Given the description of an element on the screen output the (x, y) to click on. 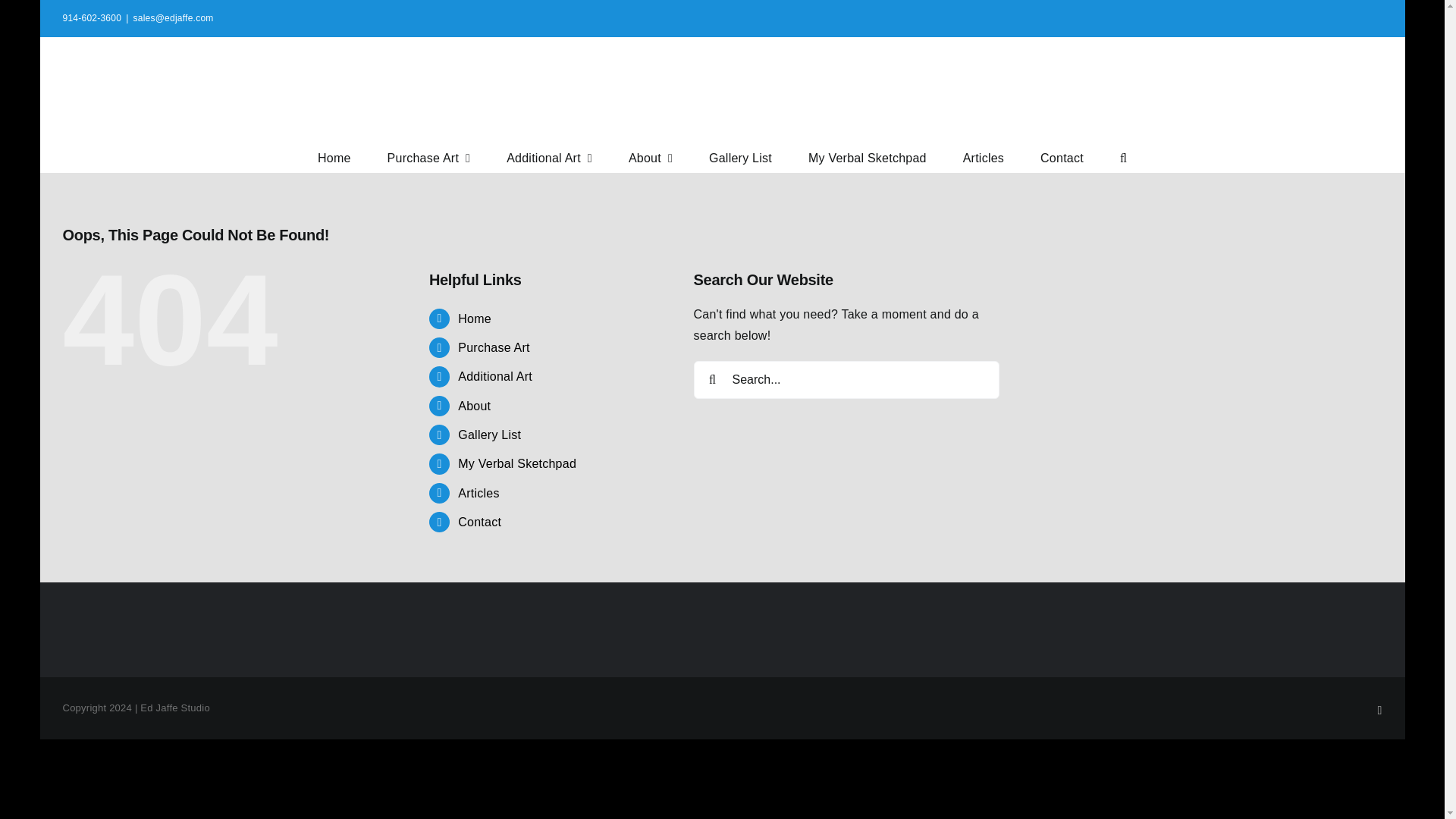
My Verbal Sketchpad (517, 463)
My Verbal Sketchpad (867, 156)
Articles (983, 156)
Articles (478, 492)
Purchase Art (428, 156)
About (474, 405)
Gallery List (740, 156)
Additional Art (549, 156)
Contact (479, 521)
Contact (1062, 156)
